Given the description of an element on the screen output the (x, y) to click on. 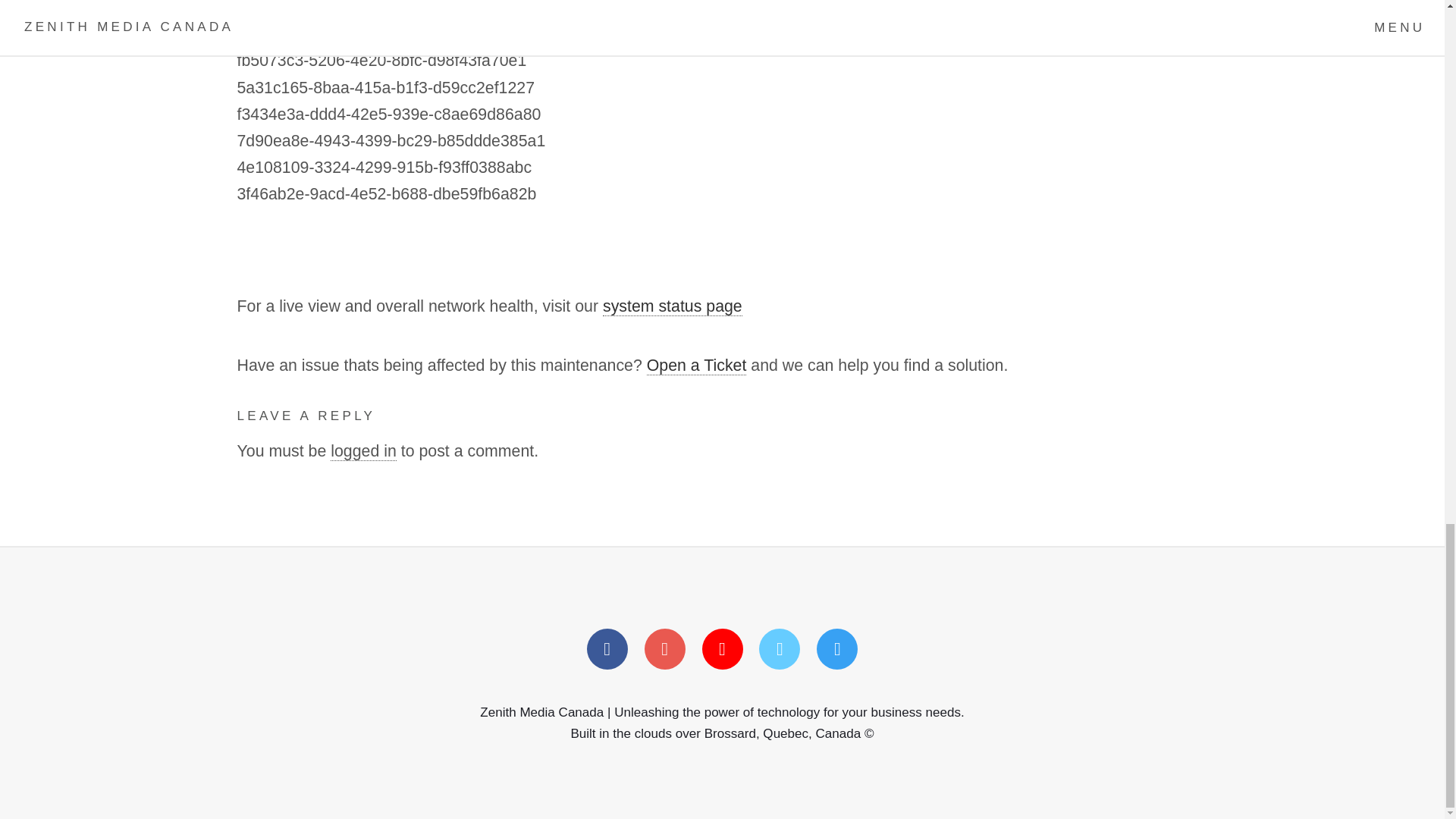
telephone (778, 649)
Open a Ticket (696, 365)
twitter (665, 649)
linkedin (721, 649)
facebook (606, 649)
logged in (363, 451)
email (836, 649)
system status page (672, 306)
